Given the description of an element on the screen output the (x, y) to click on. 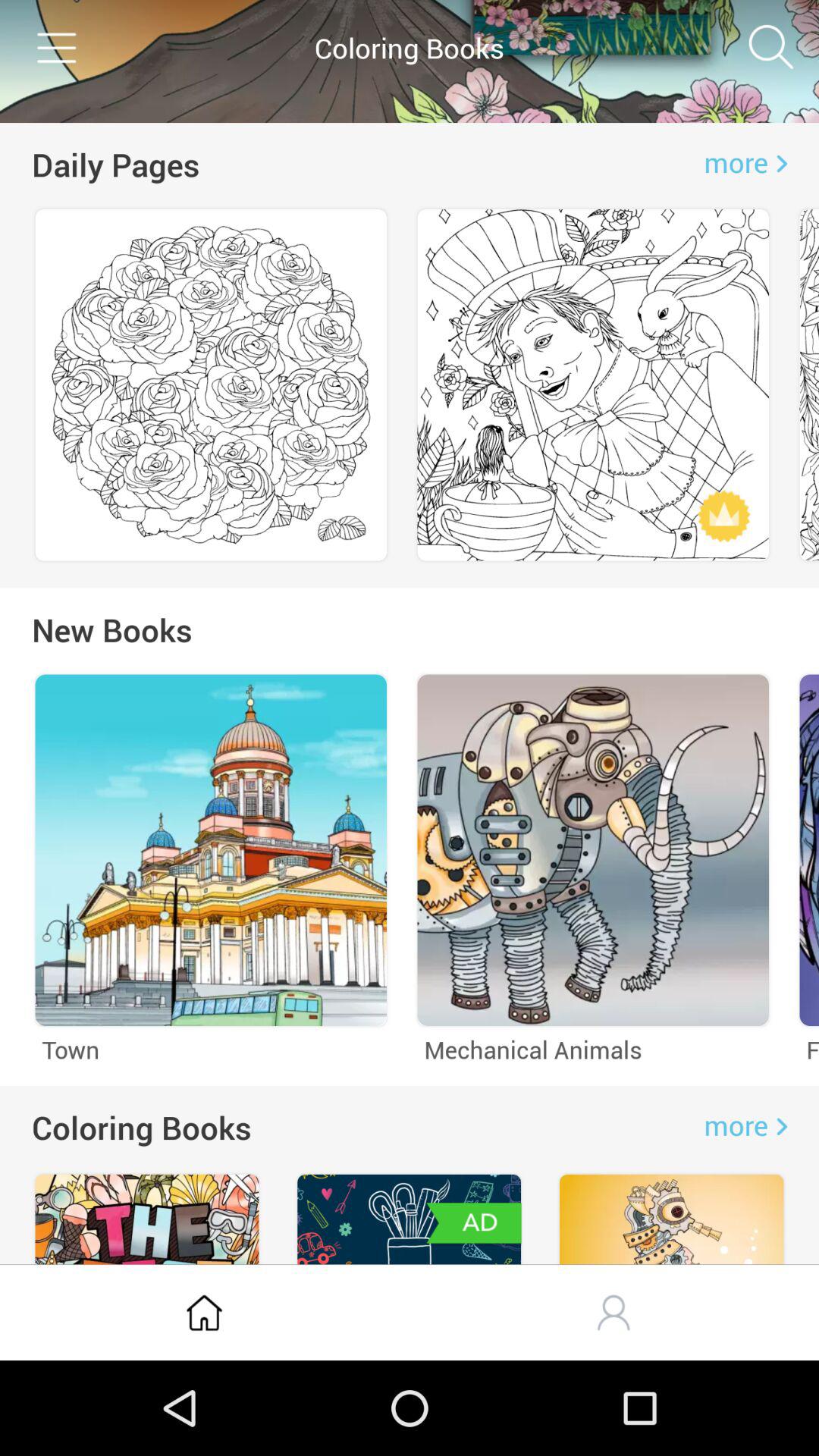
choose the icon above more item (771, 47)
